Given the description of an element on the screen output the (x, y) to click on. 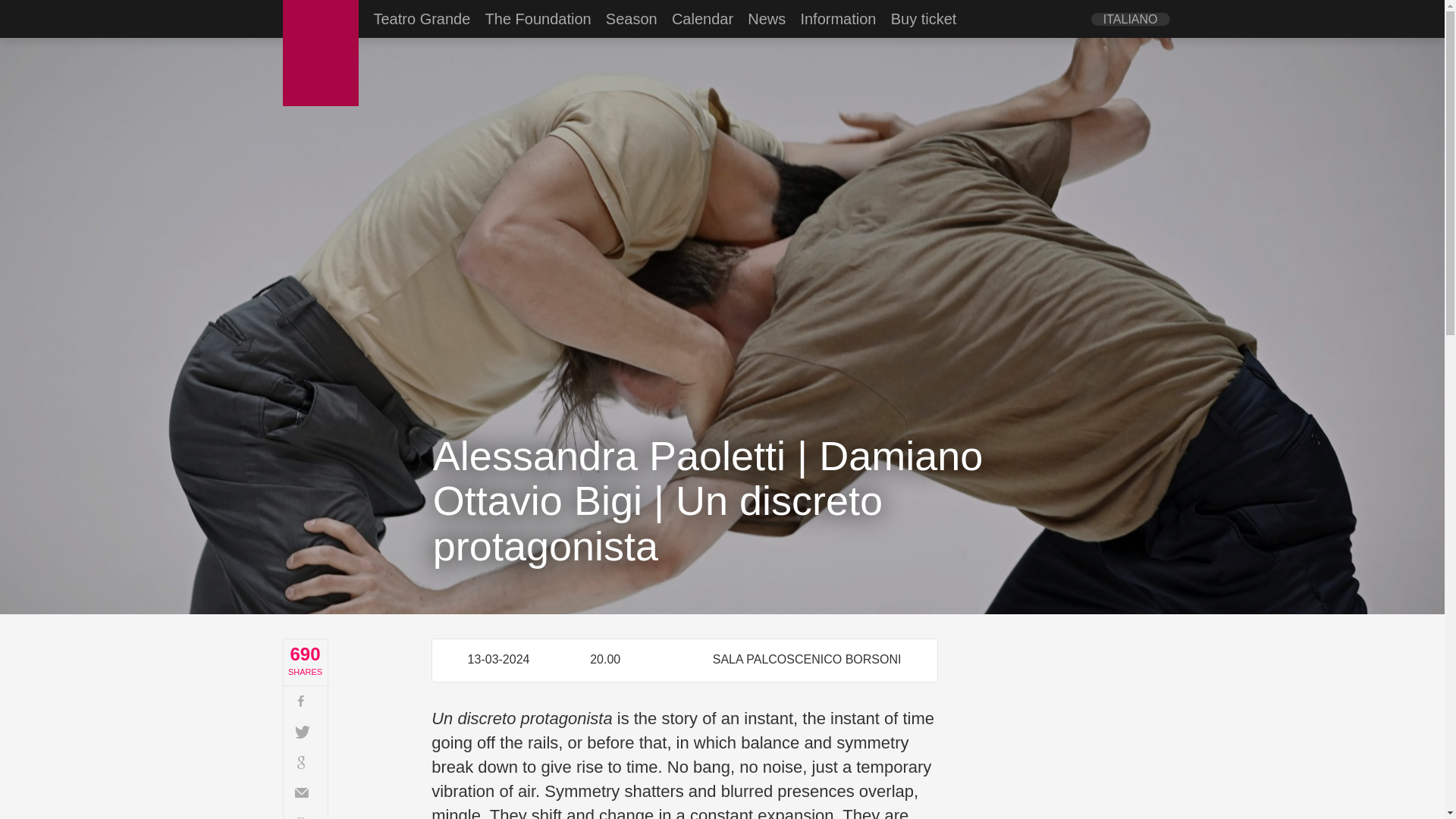
Season (631, 18)
News (767, 18)
Teatro Grande (421, 18)
Buy ticket (923, 18)
Share (305, 701)
Calendar (702, 18)
Tweet (305, 731)
Print (305, 813)
ITALIANO (1130, 19)
Subscribe (305, 792)
